Given the description of an element on the screen output the (x, y) to click on. 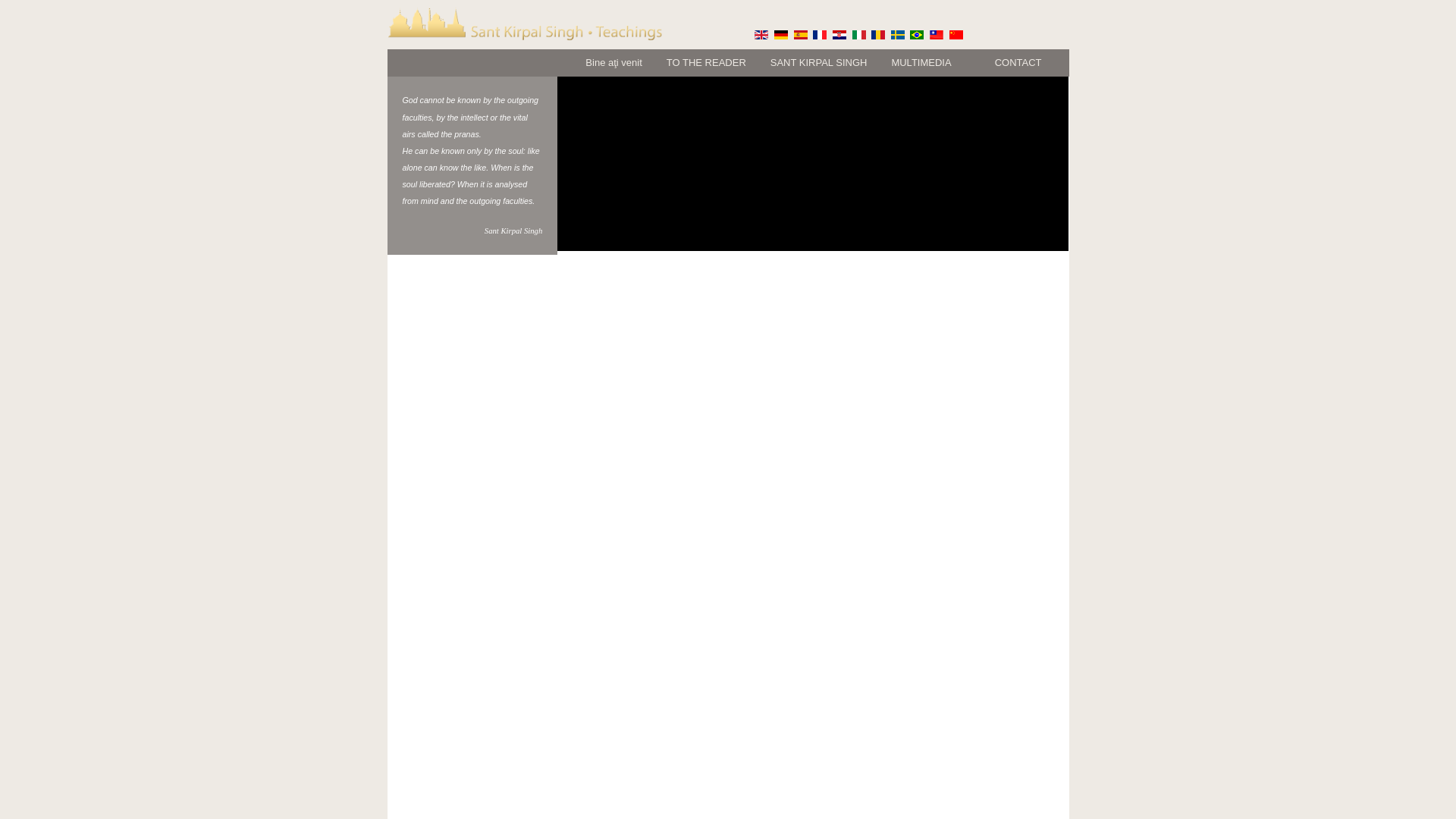
Hrvatski (838, 34)
English  (761, 34)
French (819, 34)
CONTACT (1018, 62)
SANT KIRPAL SINGH (818, 62)
Deutsch (780, 34)
Italiano (858, 34)
TO THE READER (705, 62)
Svenska (897, 34)
MULTIMEDIA (930, 62)
